Given the description of an element on the screen output the (x, y) to click on. 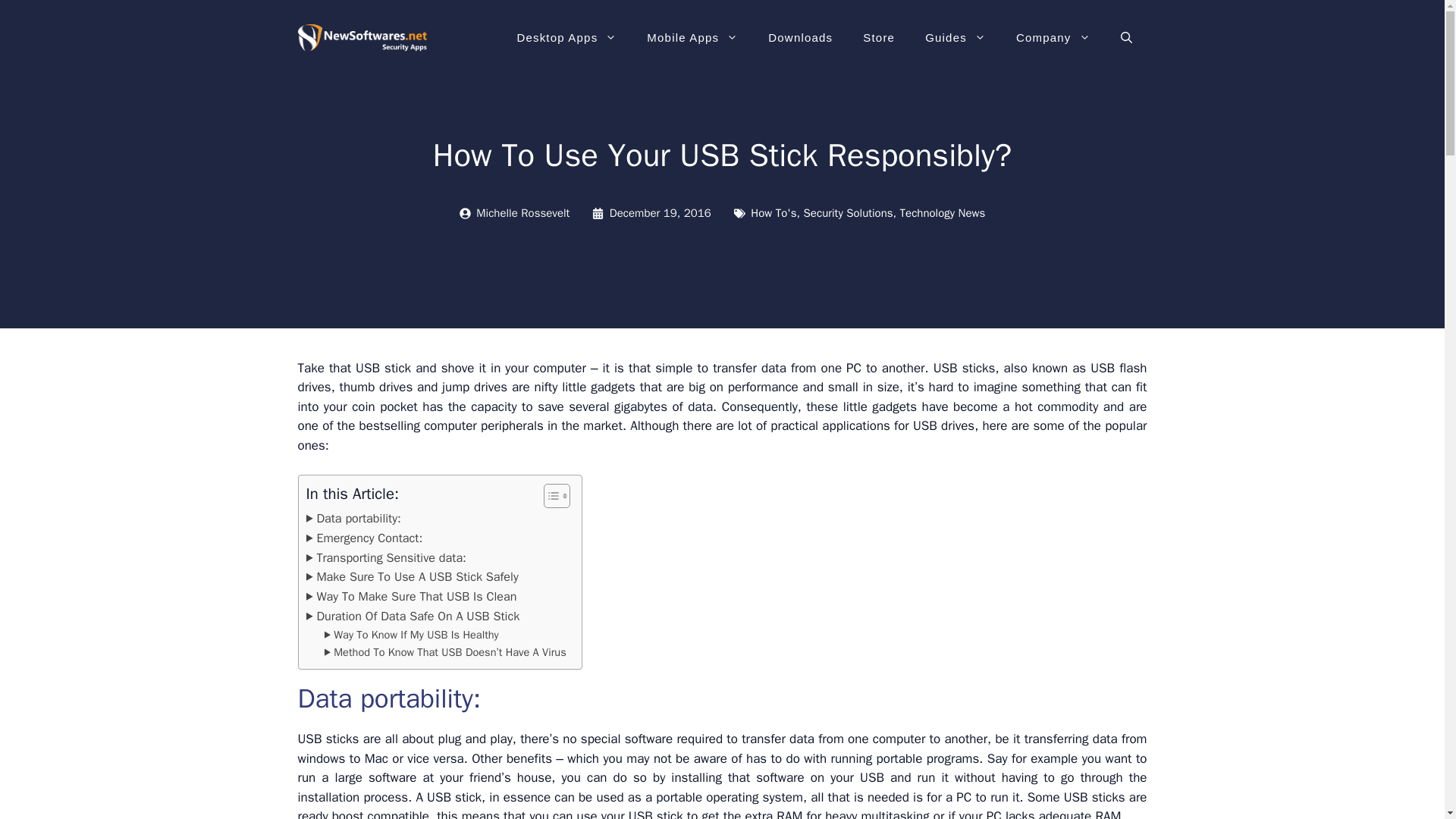
Duration Of Data Safe On A USB Stick (412, 616)
Way To Know If My USB Is Healthy (411, 634)
Transporting Sensitive data: (385, 557)
Data portability: (353, 518)
Make Sure To Use A USB Stick Safely (411, 577)
Store (878, 37)
Downloads (799, 37)
Company (1053, 37)
Desktop Apps (565, 37)
Mobile Apps (691, 37)
